Given the description of an element on the screen output the (x, y) to click on. 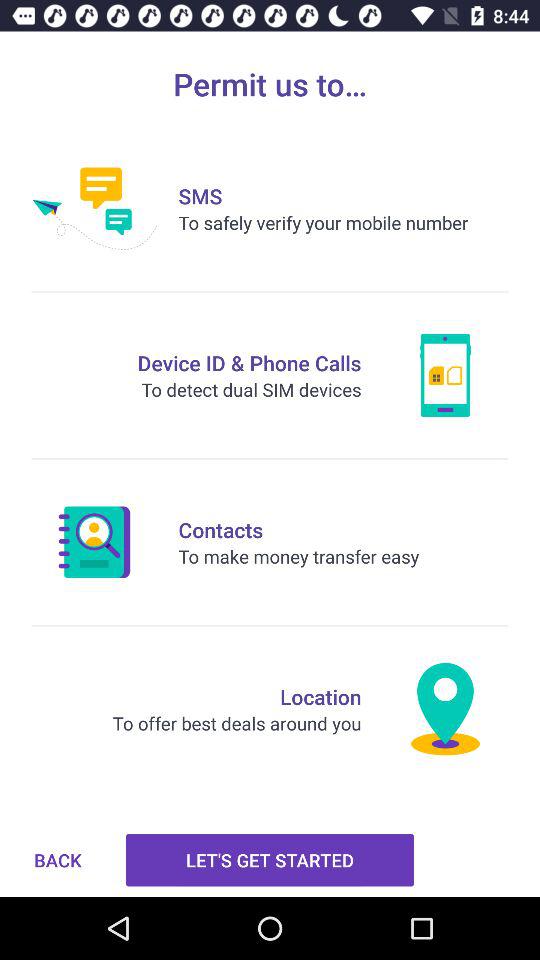
turn on the back (57, 859)
